Given the description of an element on the screen output the (x, y) to click on. 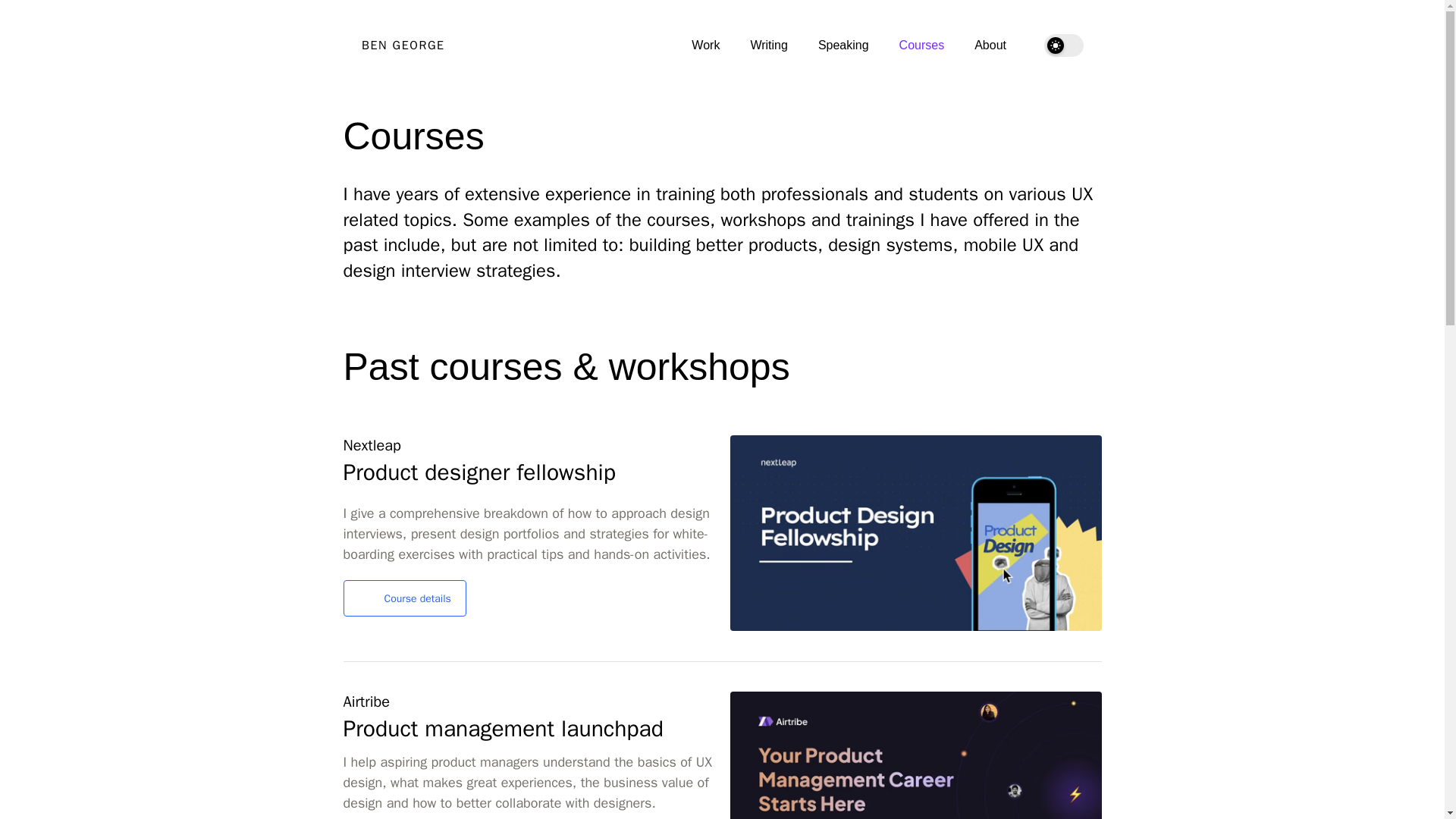
Work (705, 44)
BEN GEORGE (402, 45)
Speaking (841, 44)
About (990, 44)
Courses (920, 44)
Course details (403, 597)
Writing (768, 44)
